Given the description of an element on the screen output the (x, y) to click on. 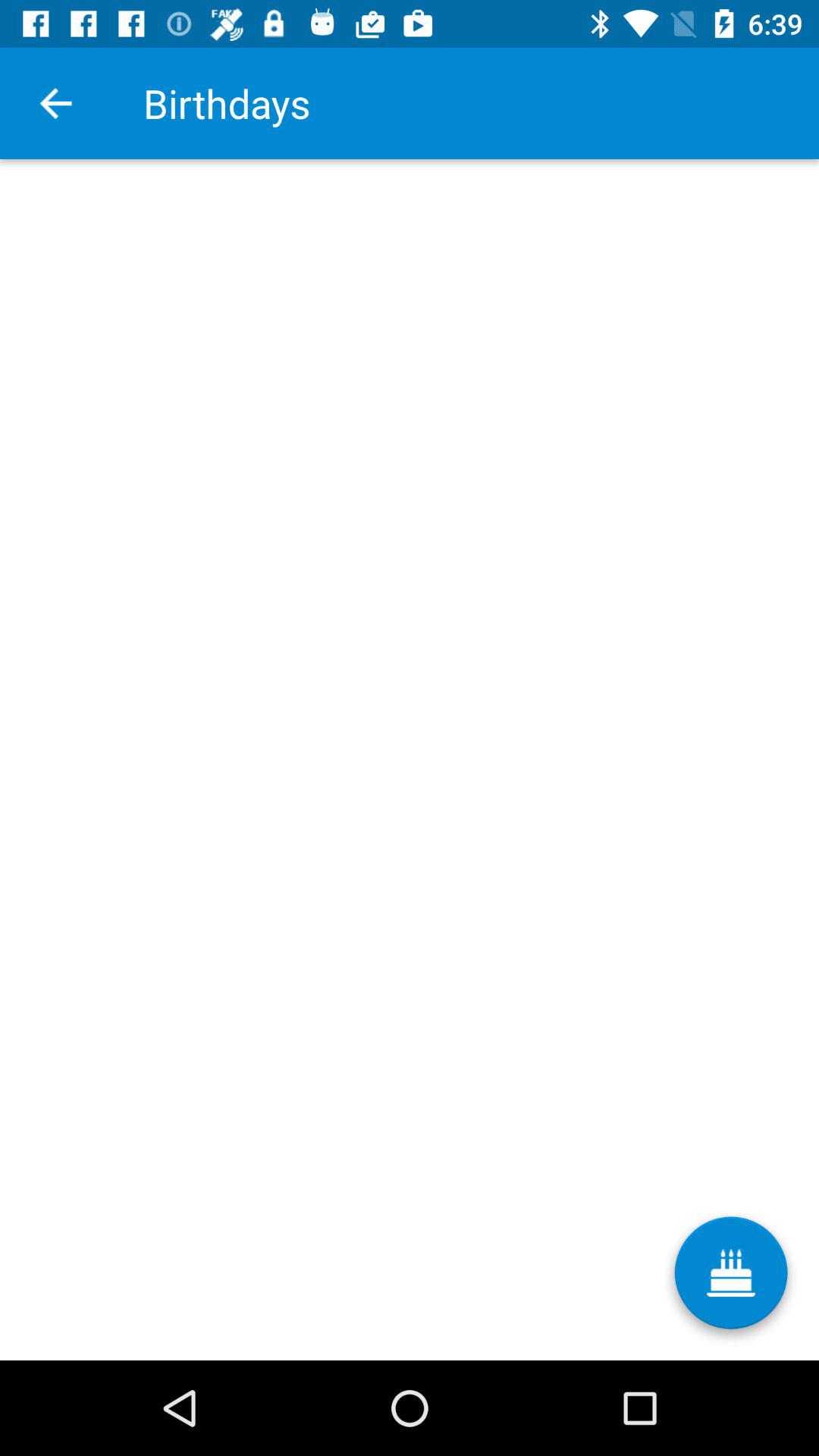
choose the item at the bottom right corner (730, 1278)
